Given the description of an element on the screen output the (x, y) to click on. 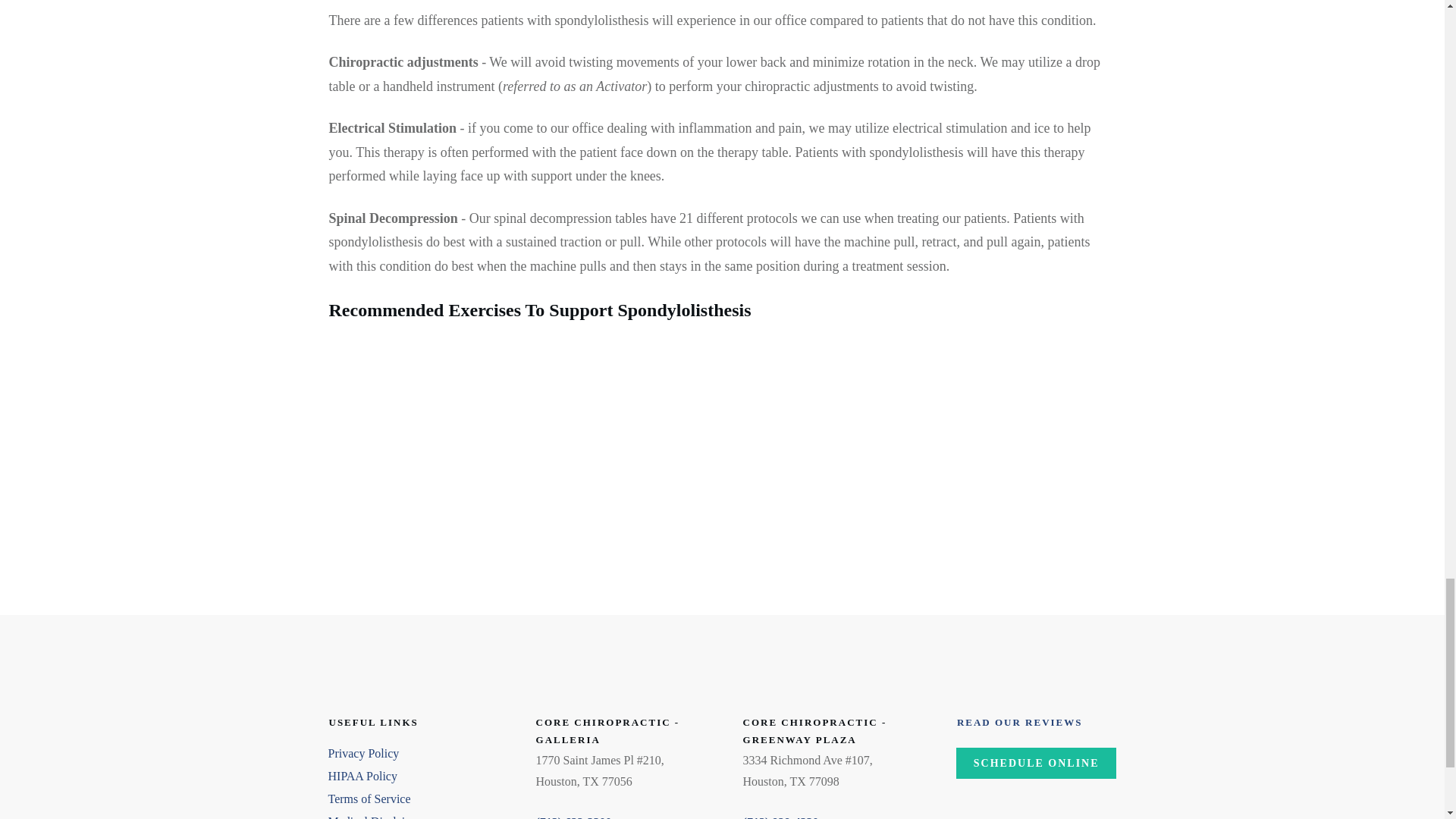
Responsive Video (522, 452)
HIPAA Policy (361, 775)
Privacy Policy (362, 753)
Terms of Service (368, 798)
SCHEDULE ONLINE (1036, 763)
Responsive Video (922, 452)
READ OUR REVIEWS (1019, 722)
Medical Disclaimer (375, 816)
